Given the description of an element on the screen output the (x, y) to click on. 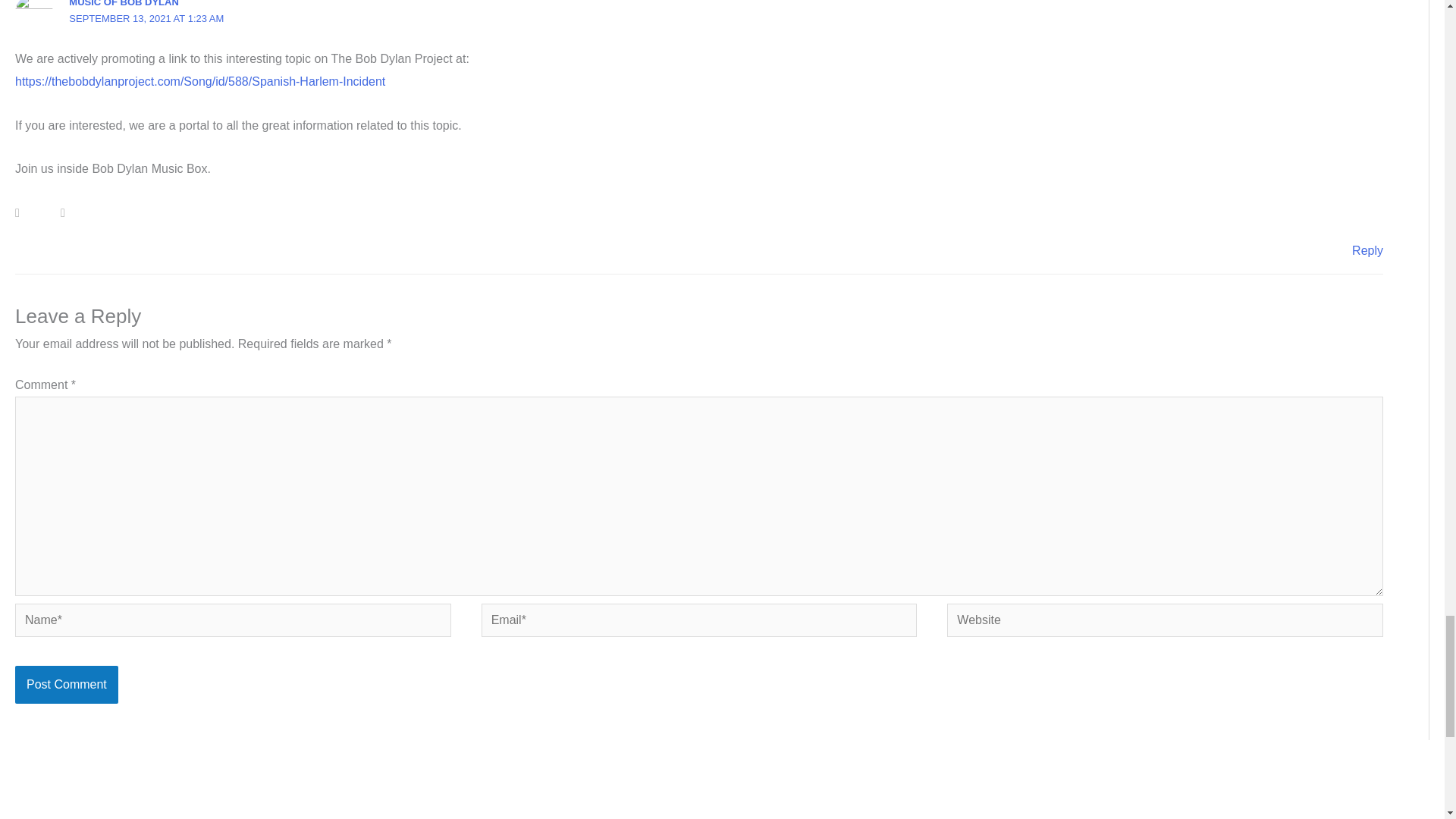
SEPTEMBER 13, 2021 AT 1:23 AM (146, 47)
Reply (1367, 278)
MUSIC OF BOB DYLAN (122, 30)
Post Comment (65, 714)
Post Comment (65, 714)
